Given the description of an element on the screen output the (x, y) to click on. 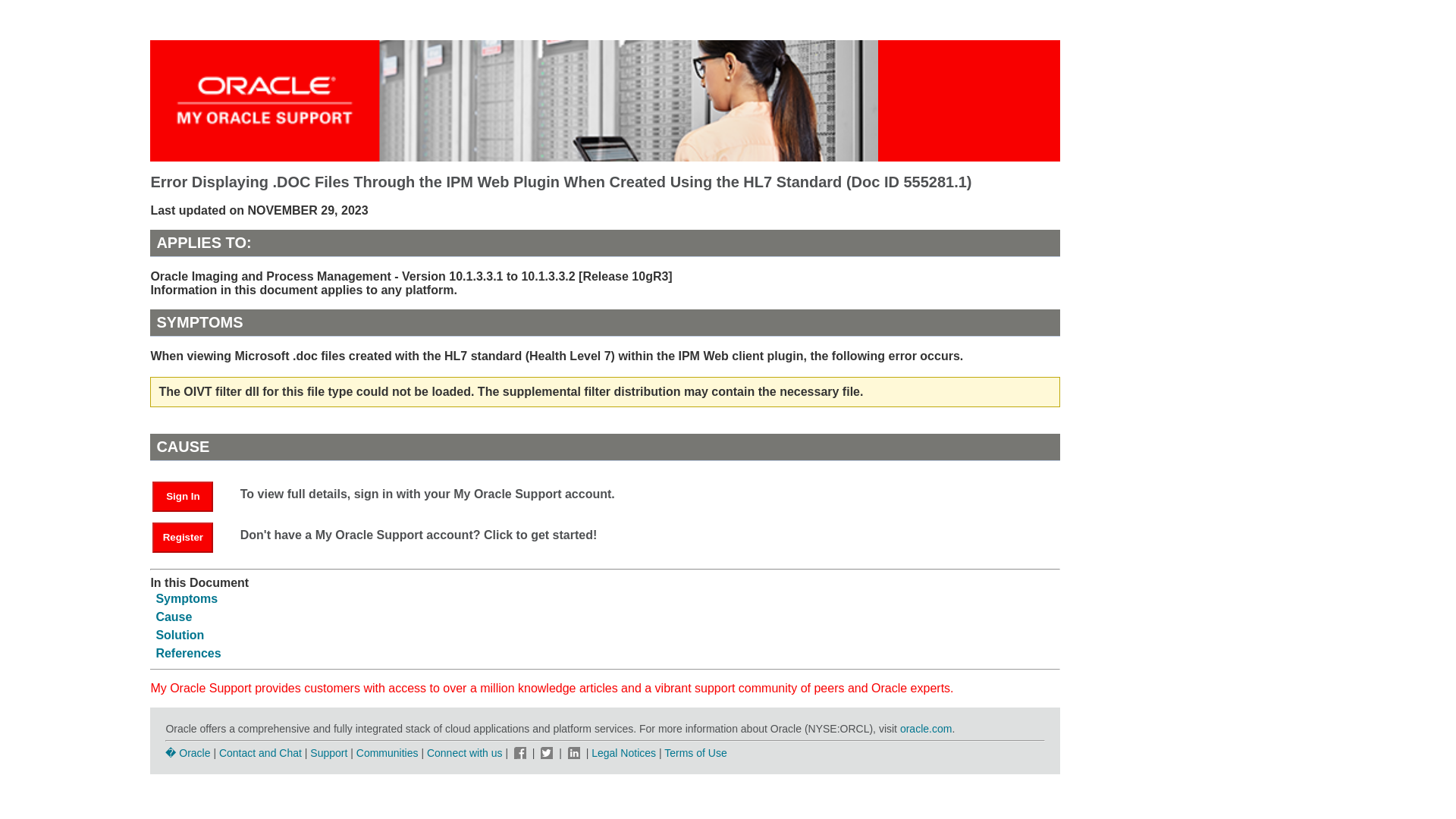
oracle.com (925, 728)
oracle.com (925, 728)
Register (182, 537)
Contact and Chat (260, 752)
References (188, 653)
Symptoms (185, 598)
Support (328, 752)
Terms of Use (694, 752)
Communities (387, 752)
Register (190, 535)
Cause (173, 616)
Solution (179, 634)
Sign In (182, 496)
Sign In (190, 495)
Connect with us (465, 752)
